Given the description of an element on the screen output the (x, y) to click on. 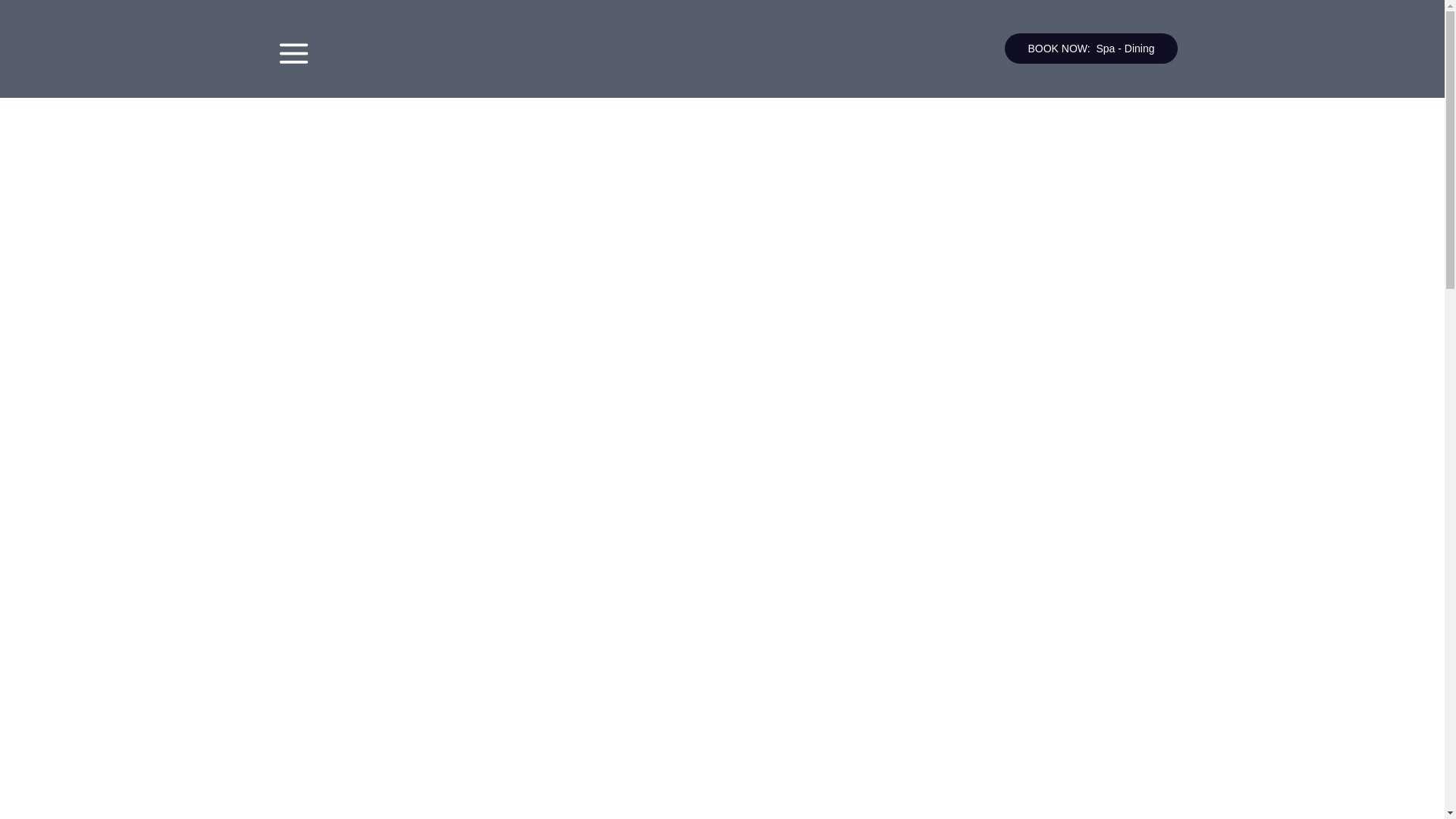
Main Menu (292, 53)
Dining (1139, 48)
Spa (1105, 48)
